Given the description of an element on the screen output the (x, y) to click on. 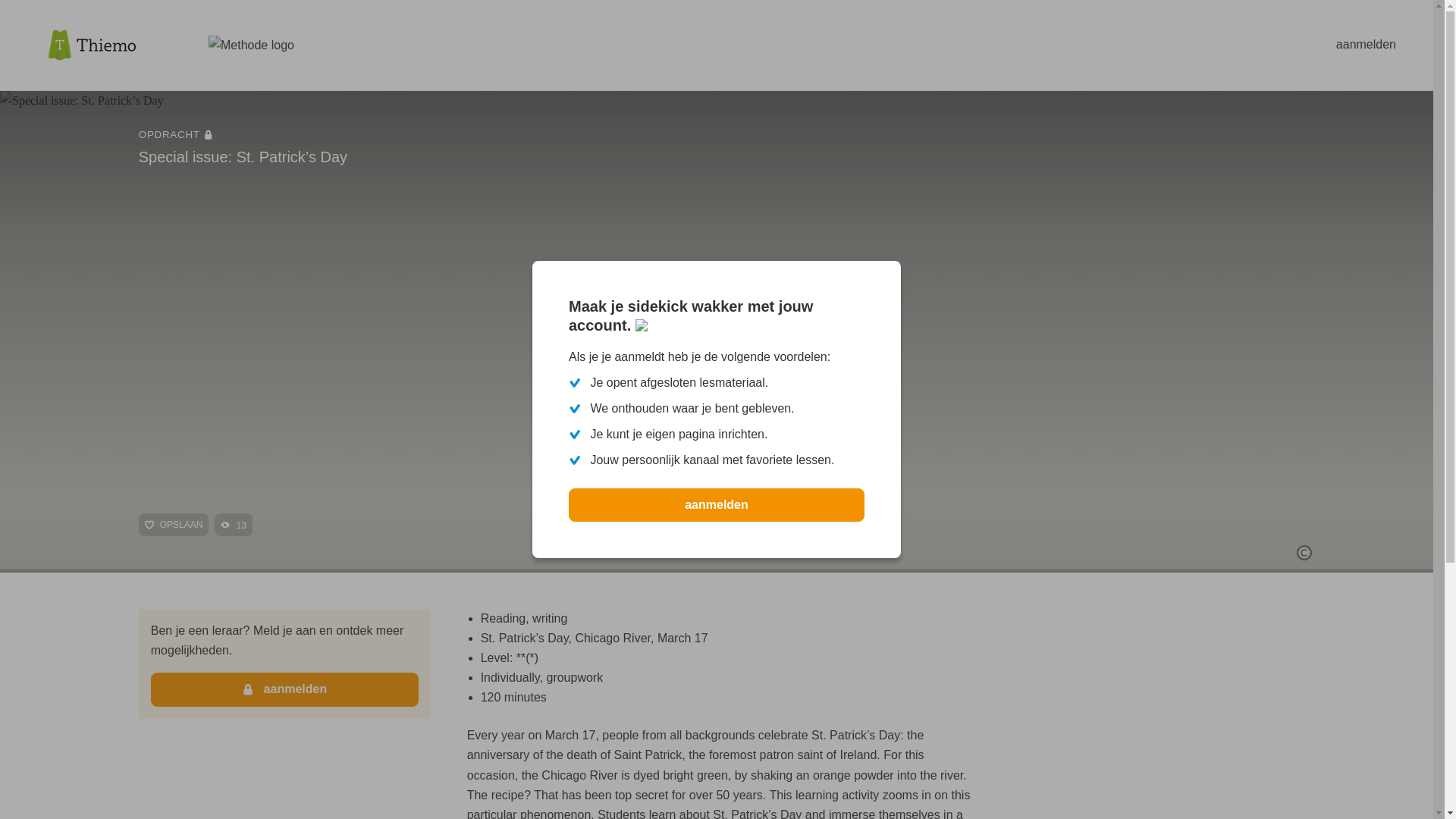
aanmelden (716, 504)
aanmelden (1366, 44)
Sla dit kaartje op (173, 524)
Aanmelden (285, 688)
OPSLAAN (173, 524)
aanmelden (716, 504)
Open login scherm (1366, 44)
